Given the description of an element on the screen output the (x, y) to click on. 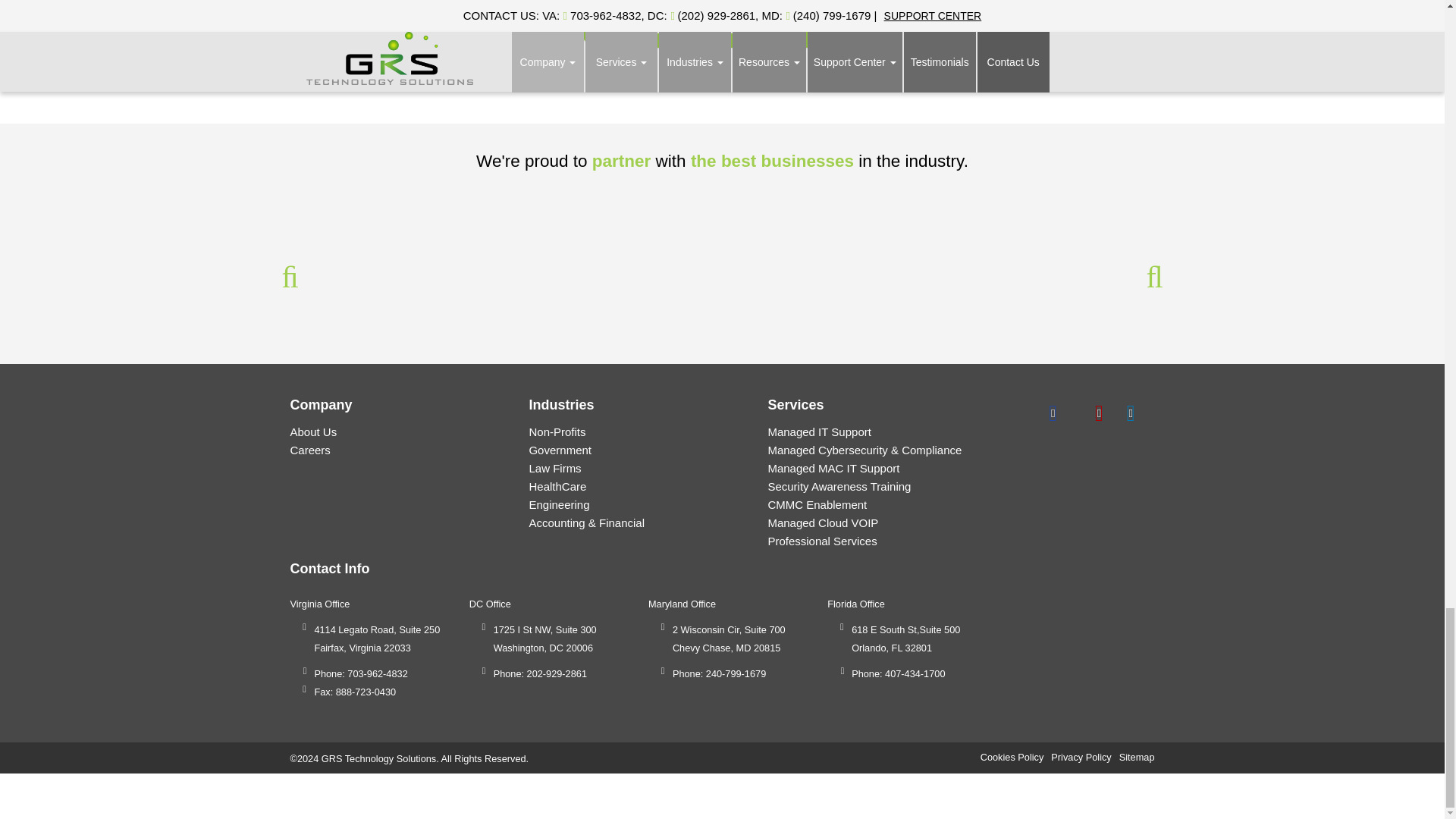
Government (559, 449)
Careers (309, 449)
Law Firms (554, 468)
Engineering (558, 504)
Find us on Youtube (1098, 411)
Privacy Policy (1080, 756)
Follow us on Facebook (1053, 411)
Sitemap (1136, 756)
HealthCare (557, 486)
Non-Profits (556, 431)
